Given the description of an element on the screen output the (x, y) to click on. 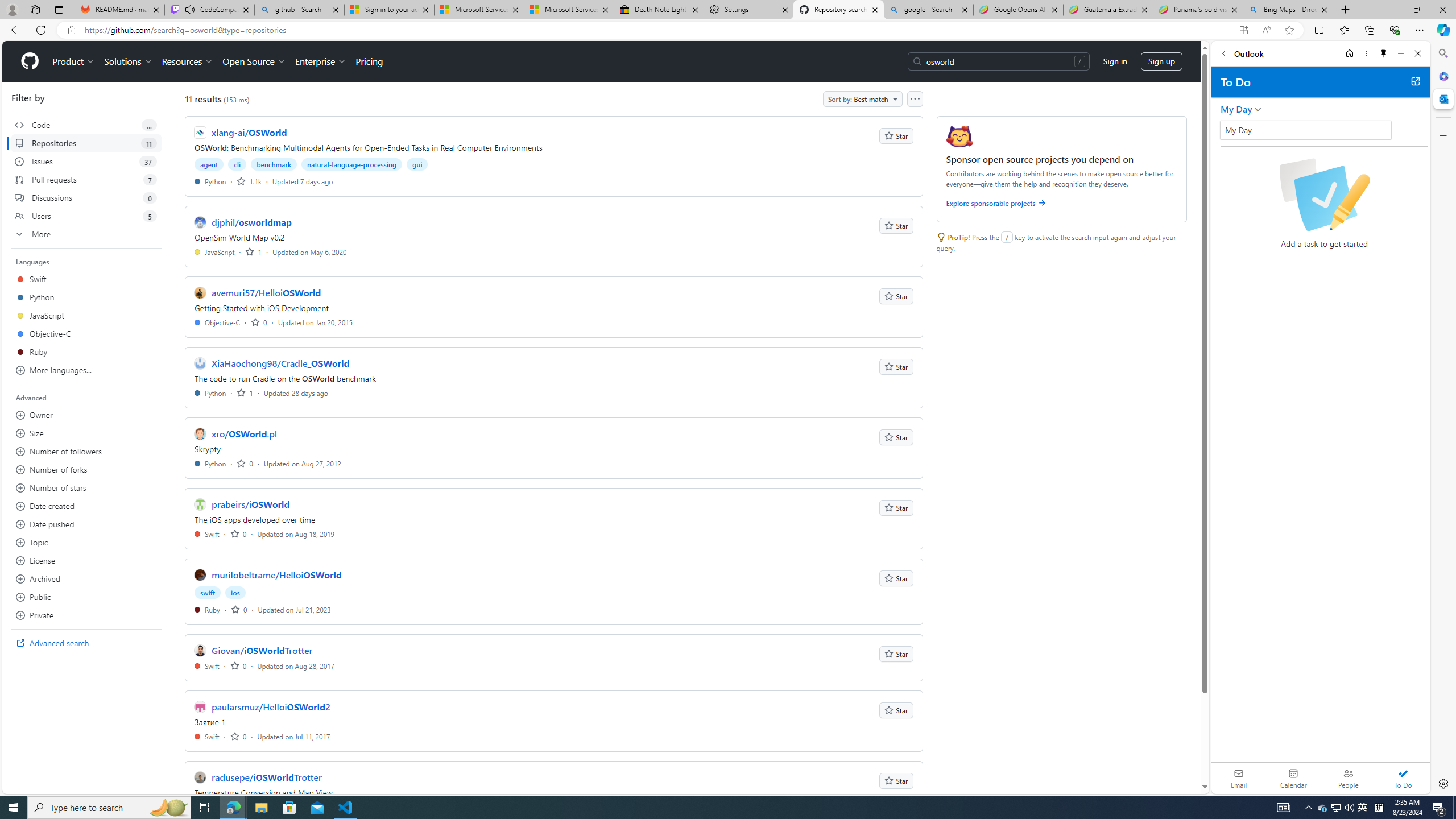
JavaScript (214, 251)
Updated on Aug 28, 2017 (295, 665)
Swift (207, 736)
Sign up (1161, 61)
agent (209, 164)
